Given the description of an element on the screen output the (x, y) to click on. 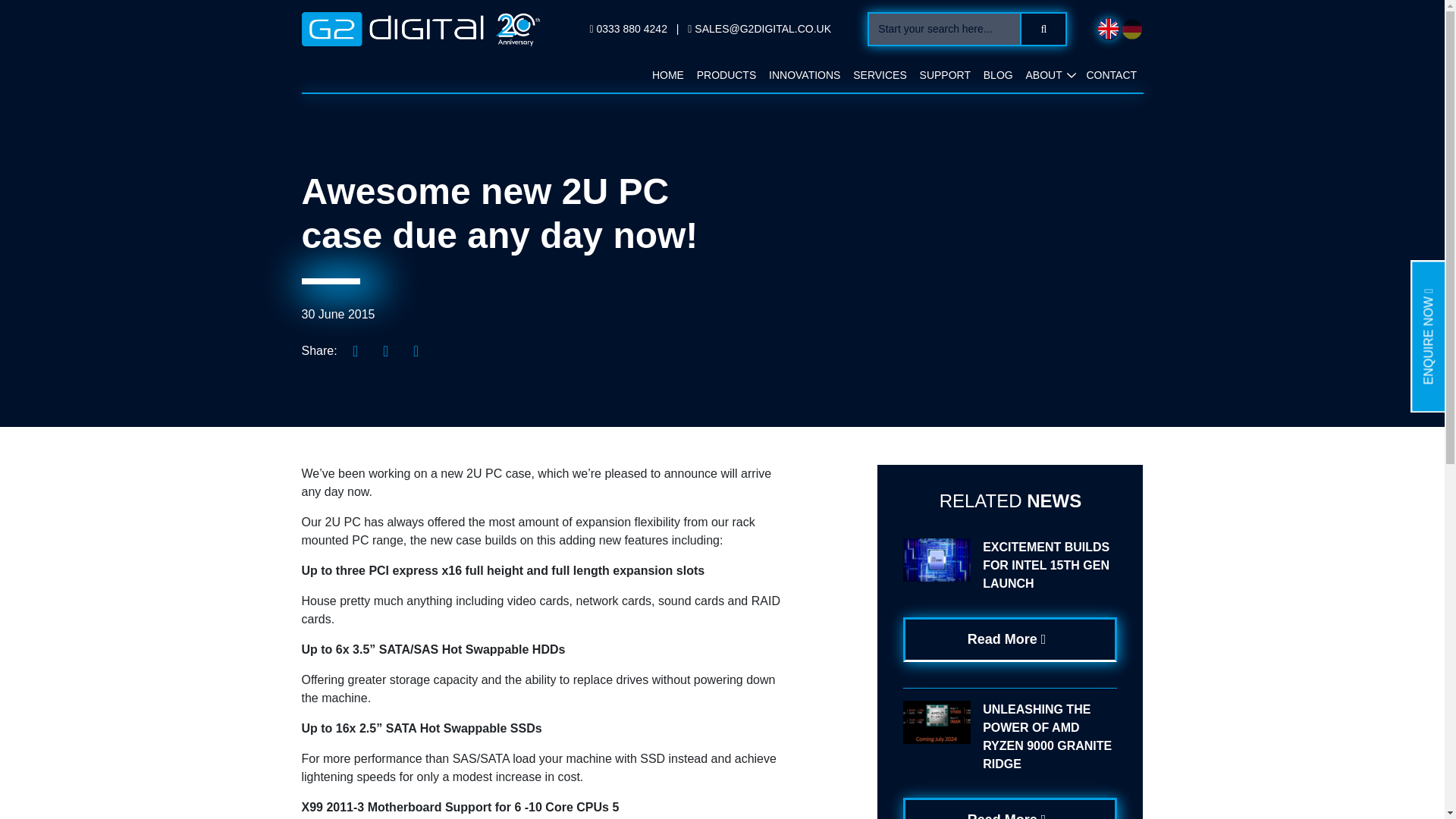
0333 880 4242 (629, 28)
PRODUCTS (725, 75)
HOME (668, 75)
Tweet (386, 350)
SERVICES (879, 75)
Share via email (415, 350)
CONTACT (1111, 75)
SUPPORT (944, 75)
Share on LinkedIn (355, 350)
ABOUT (1043, 75)
